Given the description of an element on the screen output the (x, y) to click on. 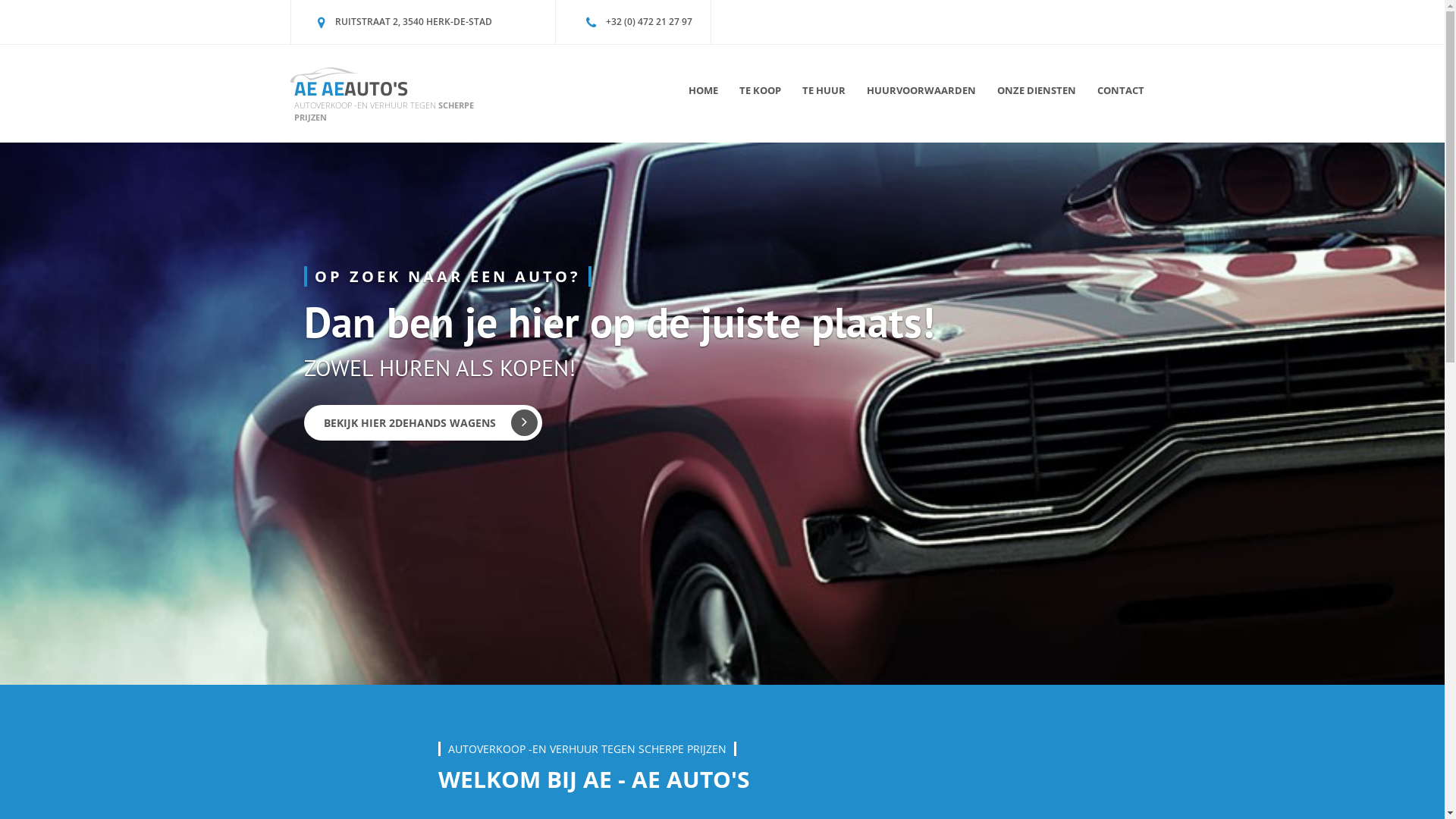
CONTACT Element type: text (1119, 95)
ONZE DIENSTEN Element type: text (1035, 95)
TE HUUR Element type: text (823, 95)
HUURVOORWAARDEN Element type: text (920, 95)
BEKIJK HIER 2DEHANDS WAGENS Element type: text (423, 422)
HOME Element type: text (702, 95)
TE KOOP Element type: text (759, 95)
AE AEAUTO'S Element type: text (350, 88)
AUTOVERKOOP -EN VERHUUR TEGEN SCHERPE PRIJZEN Element type: text (383, 110)
